Given the description of an element on the screen output the (x, y) to click on. 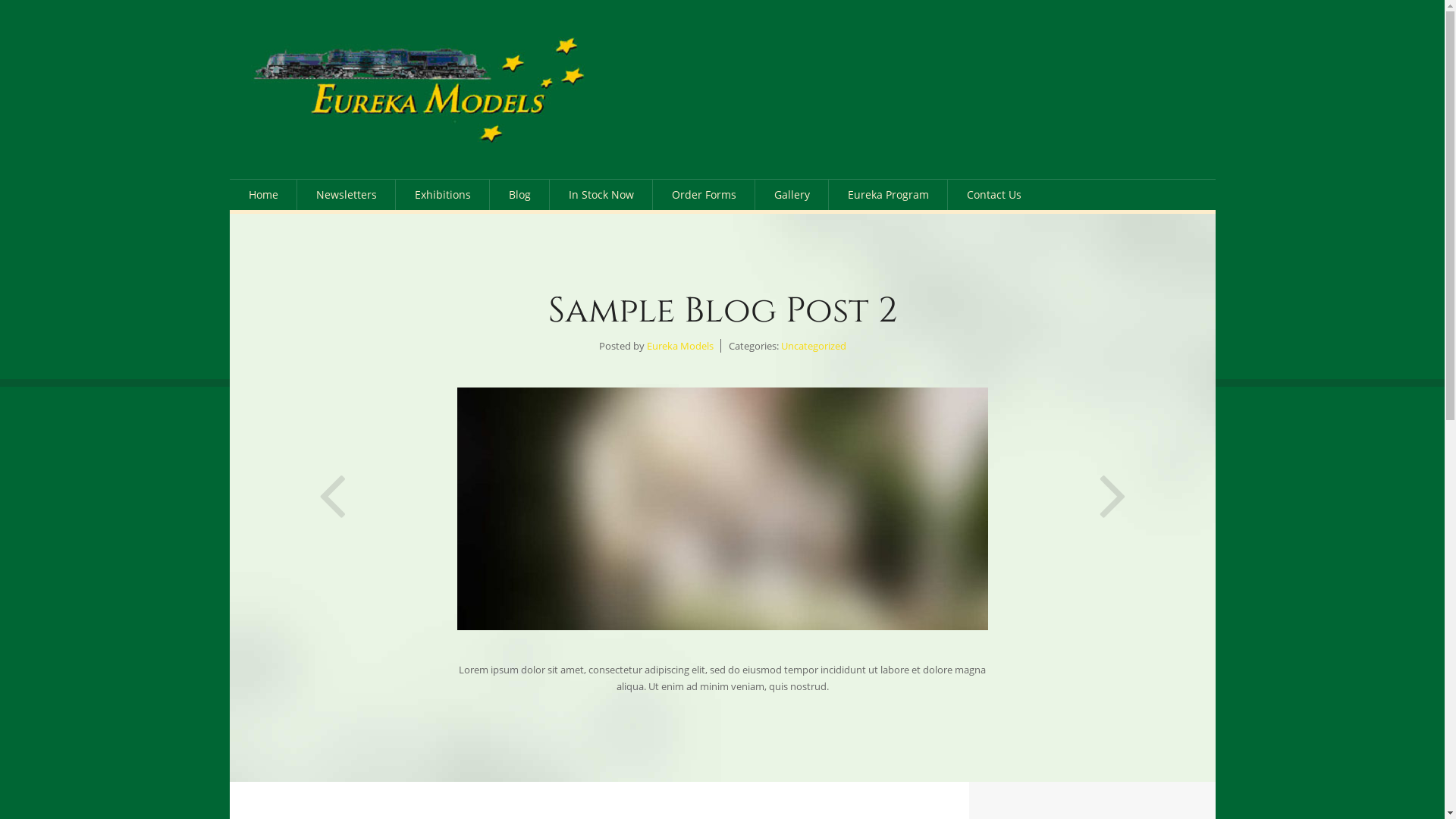
Home Element type: text (262, 194)
Newsletters Element type: text (346, 194)
Order Forms Element type: text (703, 194)
In Stock Now Element type: text (600, 194)
Eureka Models Element type: text (679, 345)
Next Page Element type: text (1112, 481)
Exhibitions Element type: text (442, 194)
Eureka Program Element type: text (887, 194)
Blog Element type: text (519, 194)
Gallery Element type: text (791, 194)
Eureka Models Element type: hover (416, 89)
Contact Us Element type: text (993, 194)
Previous Page Element type: text (331, 481)
Uncategorized Element type: text (813, 345)
